Given the description of an element on the screen output the (x, y) to click on. 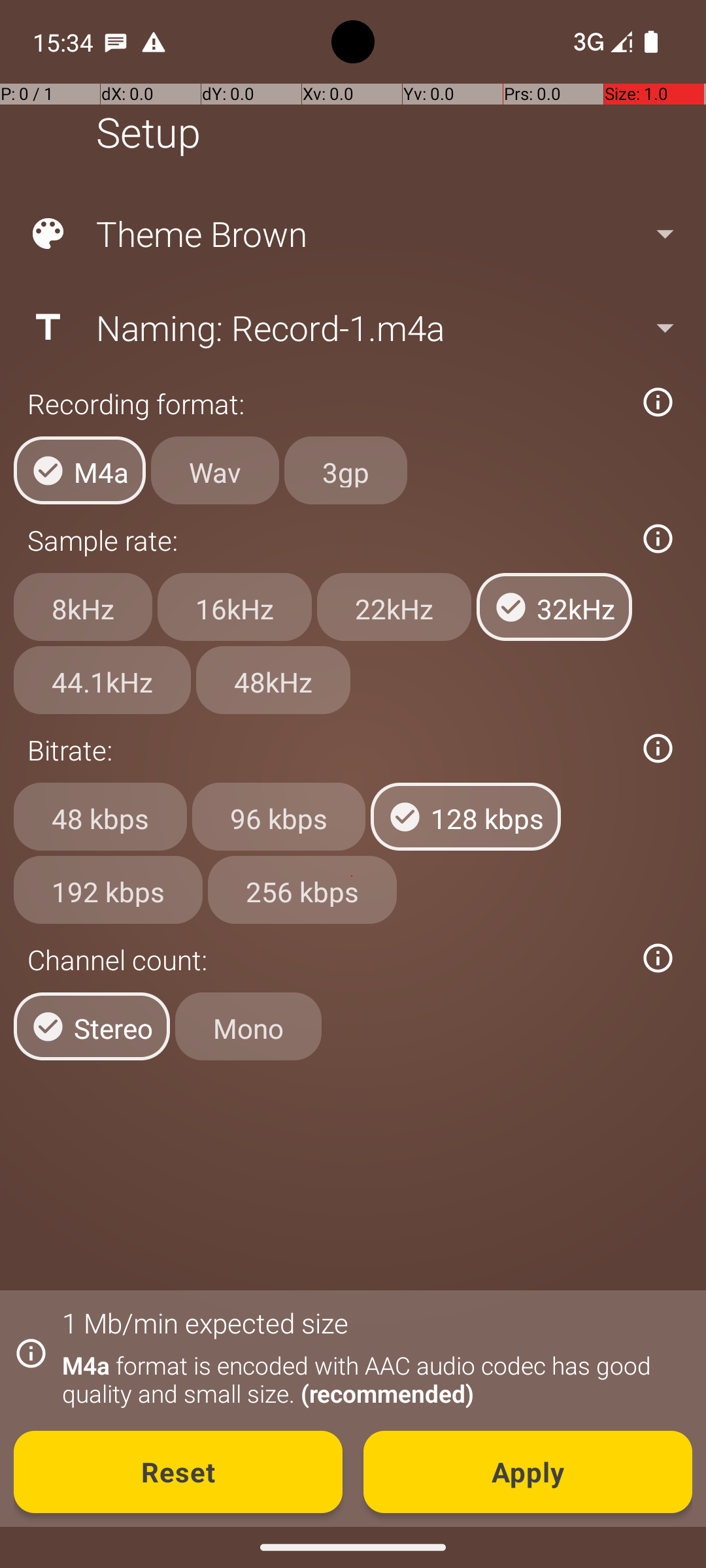
1 Mb/min expected size Element type: android.widget.TextView (205, 1322)
M4a format is encoded with AAC audio codec has good quality and small size. (recommended) Element type: android.widget.TextView (370, 1378)
Reset Element type: android.widget.Button (177, 1471)
Apply Element type: android.widget.Button (527, 1471)
Setup Element type: android.widget.TextView (148, 131)
Recording format: Element type: android.widget.TextView (325, 403)
M4a Element type: android.widget.TextView (79, 470)
Wav Element type: android.widget.TextView (215, 470)
3gp Element type: android.widget.TextView (345, 470)
Sample rate: Element type: android.widget.TextView (325, 539)
44.1kHz Element type: android.widget.TextView (101, 680)
32kHz Element type: android.widget.TextView (554, 606)
16kHz Element type: android.widget.TextView (234, 606)
22kHz Element type: android.widget.TextView (394, 606)
48kHz Element type: android.widget.TextView (273, 680)
8kHz Element type: android.widget.TextView (82, 606)
Bitrate: Element type: android.widget.TextView (325, 749)
128 kbps Element type: android.widget.TextView (465, 816)
192 kbps Element type: android.widget.TextView (107, 889)
256 kbps Element type: android.widget.TextView (301, 889)
48 kbps Element type: android.widget.TextView (99, 816)
96 kbps Element type: android.widget.TextView (278, 816)
Channel count: Element type: android.widget.TextView (325, 959)
Stereo Element type: android.widget.TextView (91, 1026)
Mono Element type: android.widget.TextView (248, 1026)
Theme Brown Element type: android.widget.TextView (352, 233)
Naming: Record-1.m4a Element type: android.widget.TextView (352, 327)
15:34 Element type: android.widget.TextView (64, 41)
SMS Messenger notification:  Element type: android.widget.ImageView (115, 41)
Android System notification: Data warning Element type: android.widget.ImageView (153, 41)
Phone two bars. Element type: android.widget.FrameLayout (600, 41)
Battery 100 percent. Element type: android.widget.LinearLayout (650, 41)
No internet Element type: android.widget.ImageView (587, 41)
